Given the description of an element on the screen output the (x, y) to click on. 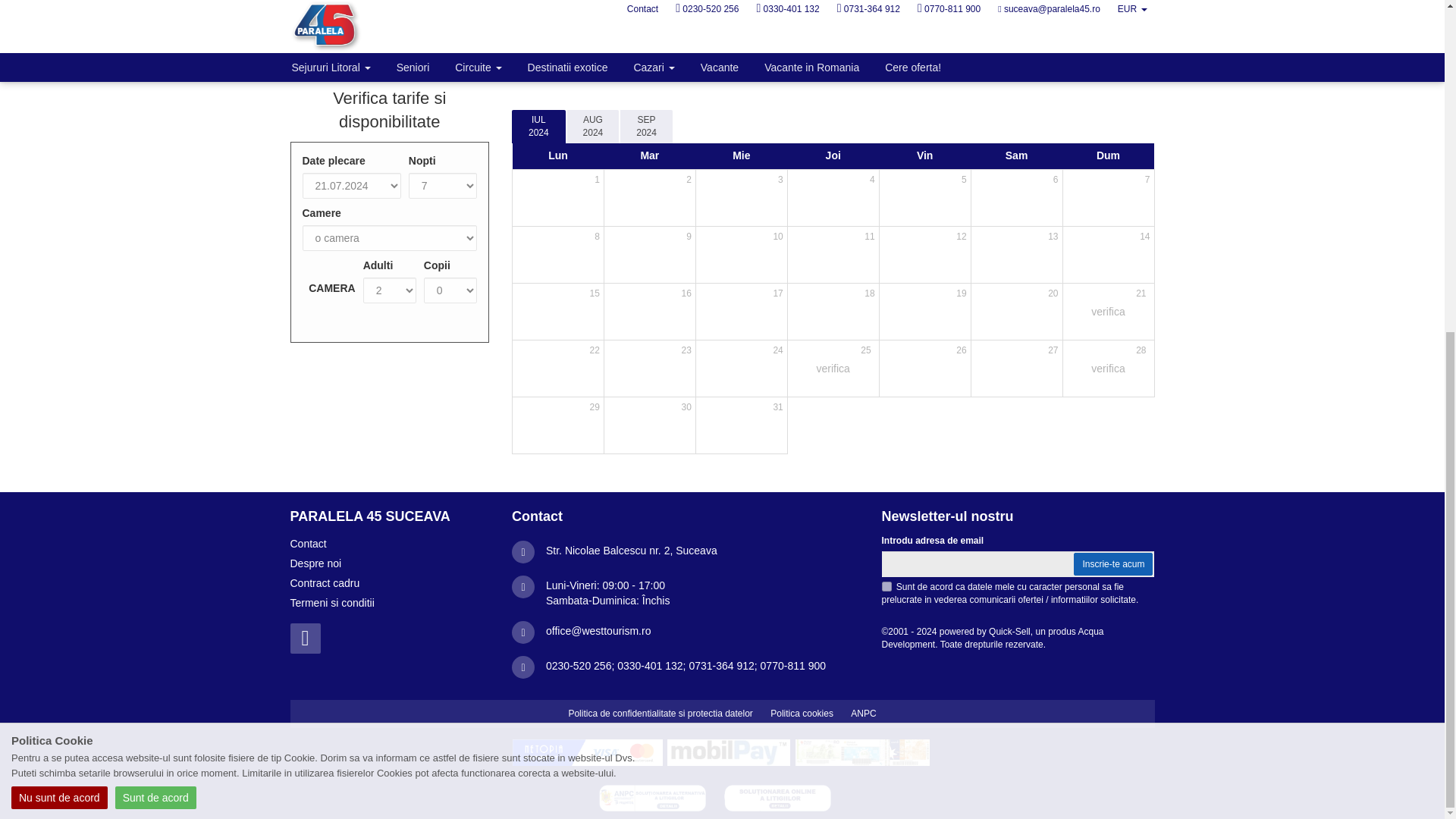
on (885, 586)
